Given the description of an element on the screen output the (x, y) to click on. 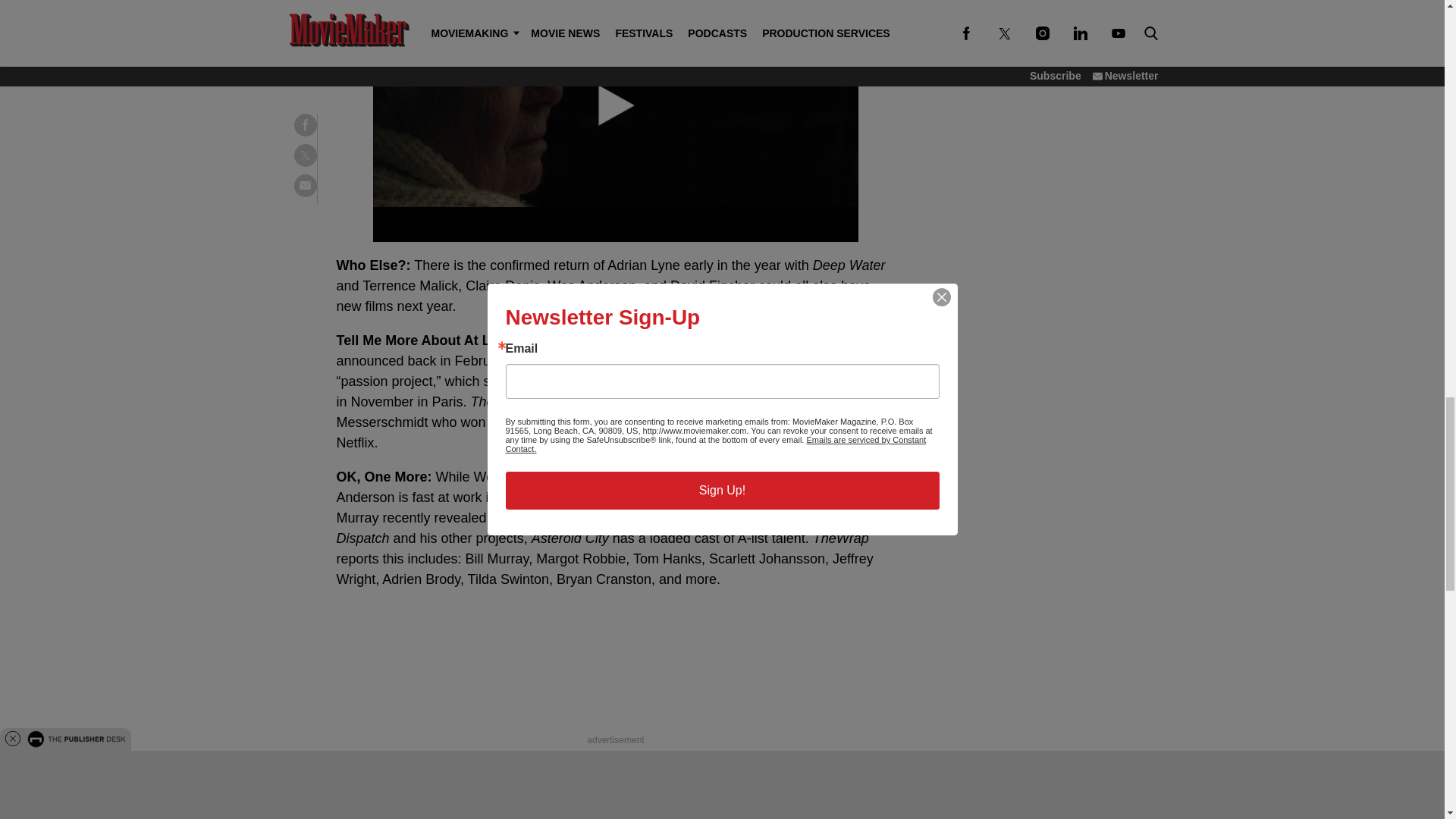
Play Video (615, 120)
Play Video (615, 105)
